Given the description of an element on the screen output the (x, y) to click on. 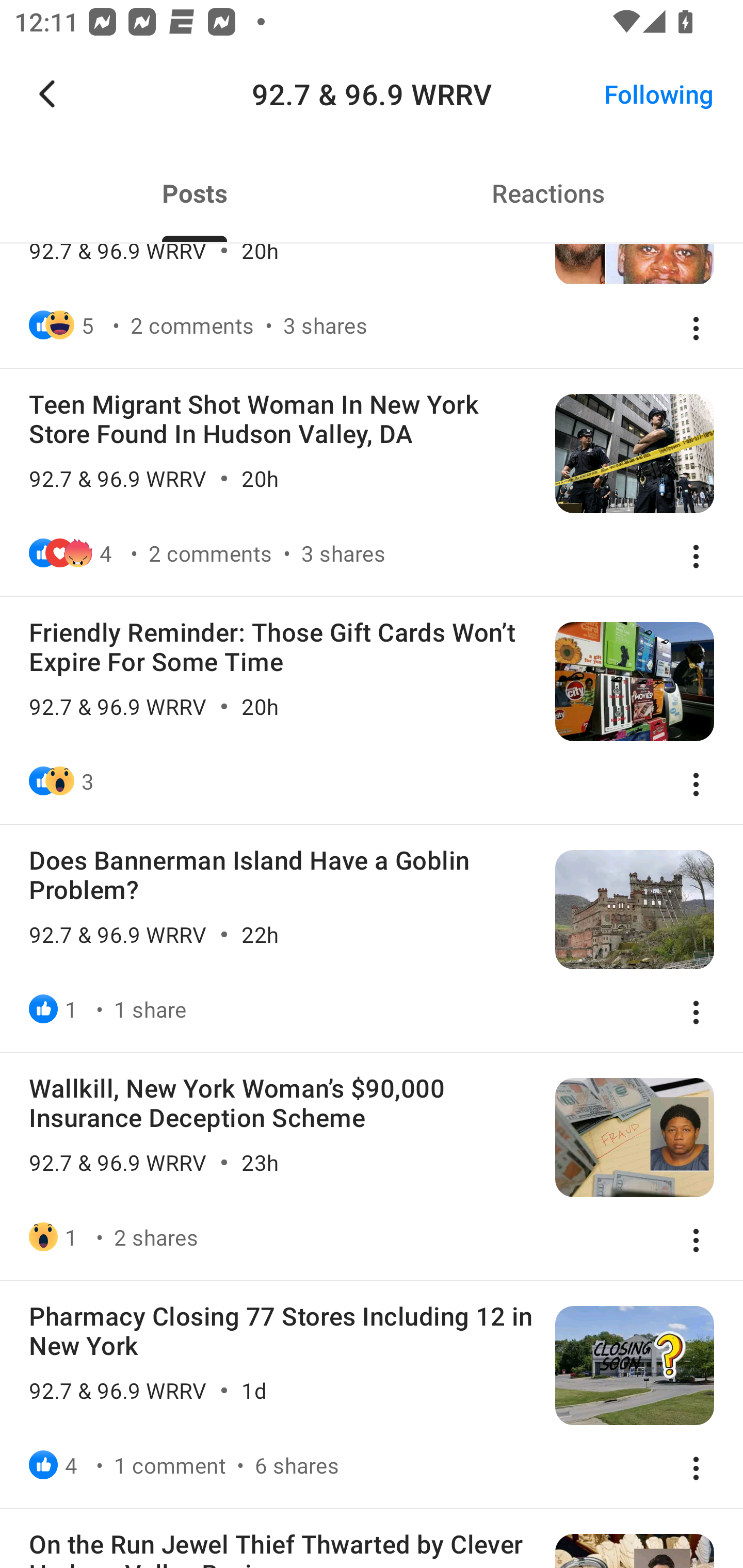
Following (659, 93)
Reactions (548, 192)
